Given the description of an element on the screen output the (x, y) to click on. 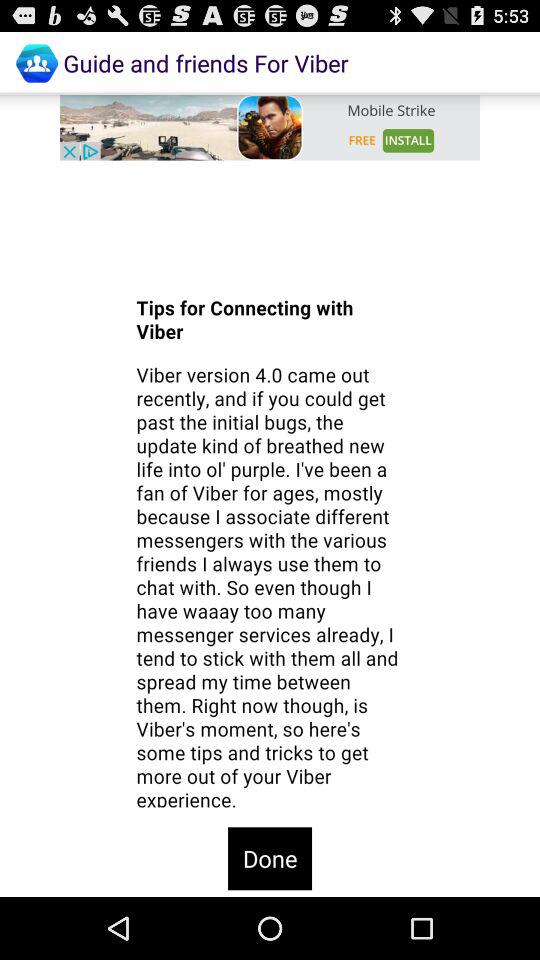
advertisement (270, 127)
